Given the description of an element on the screen output the (x, y) to click on. 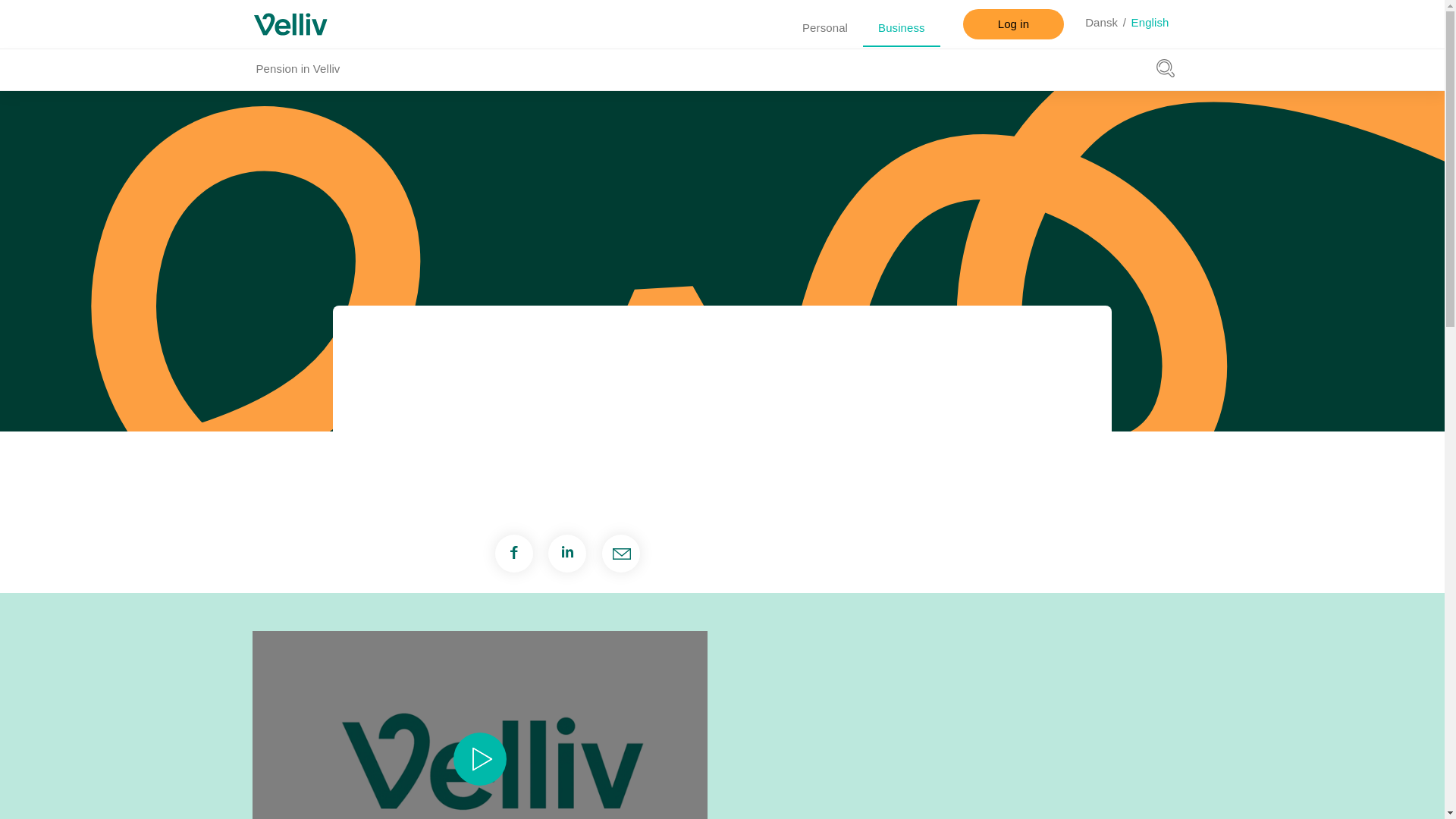
Business (901, 27)
Log in (1013, 24)
Search (1165, 67)
English (1150, 23)
Dansk (1101, 23)
Personal (825, 27)
Pension in Velliv (297, 68)
